Given the description of an element on the screen output the (x, y) to click on. 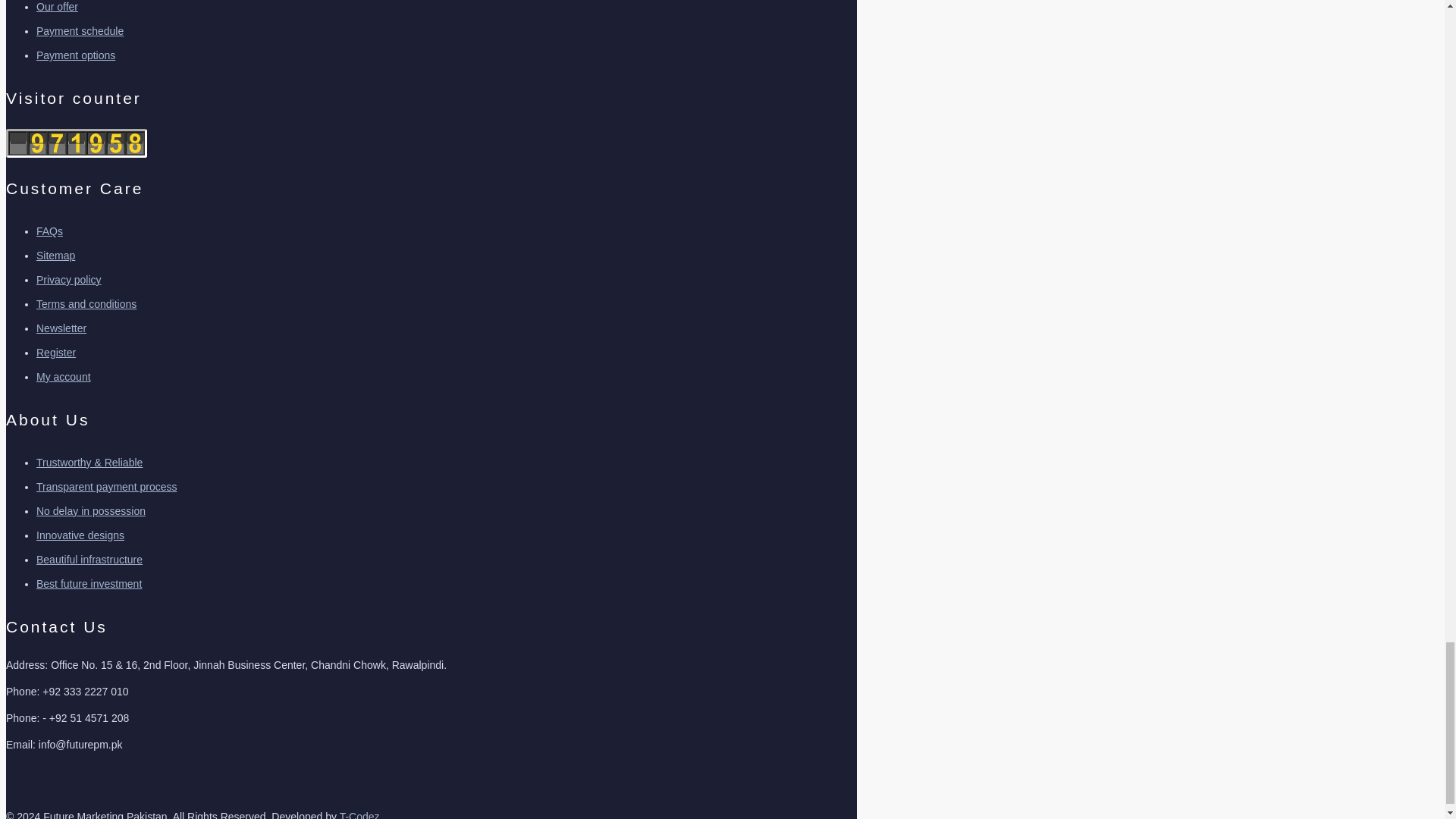
Payment options (75, 55)
Our offer (57, 6)
FAQs (49, 231)
Terms and conditions (86, 304)
My account (63, 377)
Payment schedule (79, 30)
Sitemap (55, 255)
Beautiful infrastructure (89, 559)
Best future investment (88, 583)
Register (55, 352)
